Given the description of an element on the screen output the (x, y) to click on. 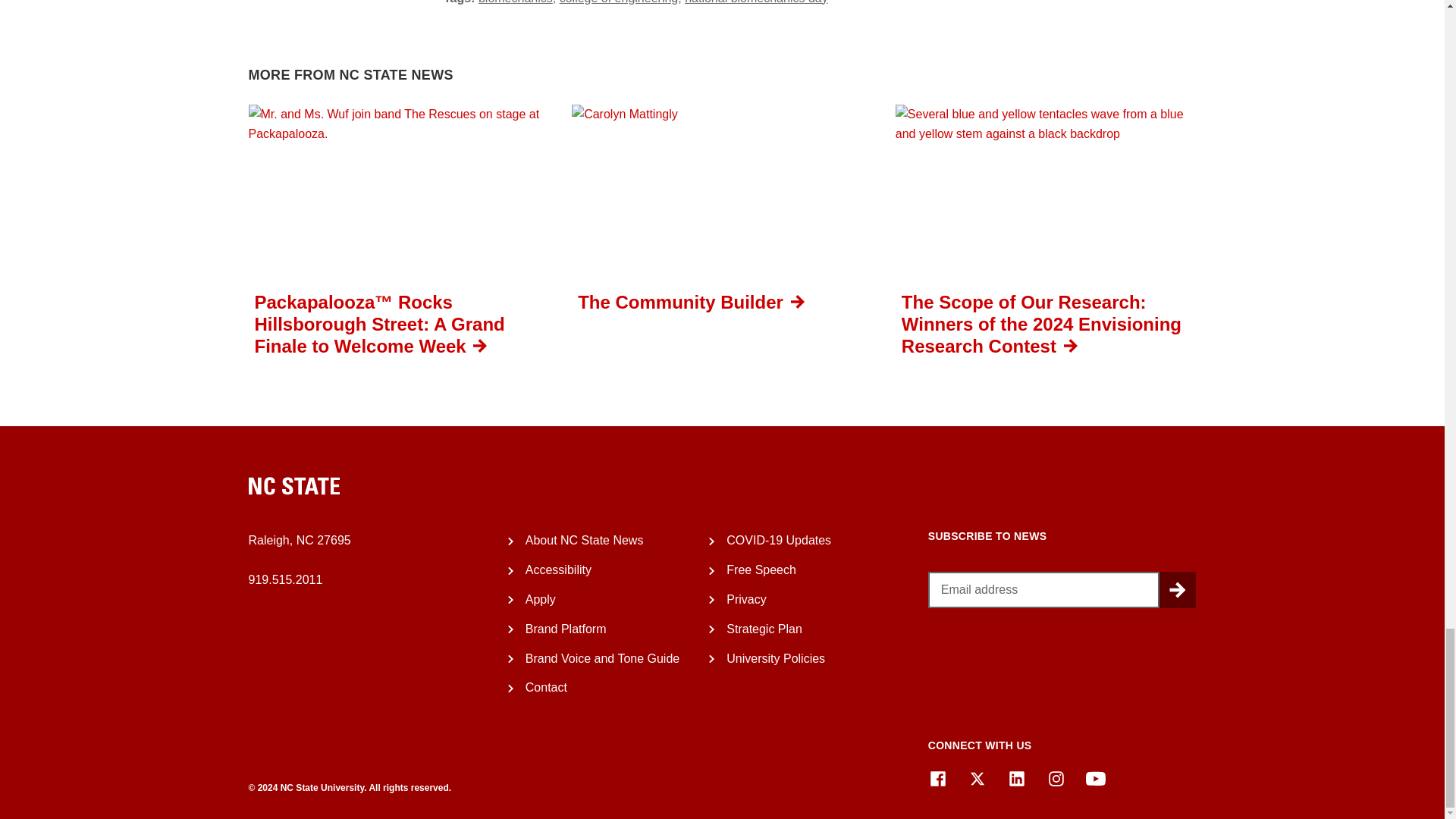
X (977, 778)
Facebook (937, 778)
LinkedIn (1016, 778)
YouTube (1095, 778)
Instagram (1055, 778)
